Given the description of an element on the screen output the (x, y) to click on. 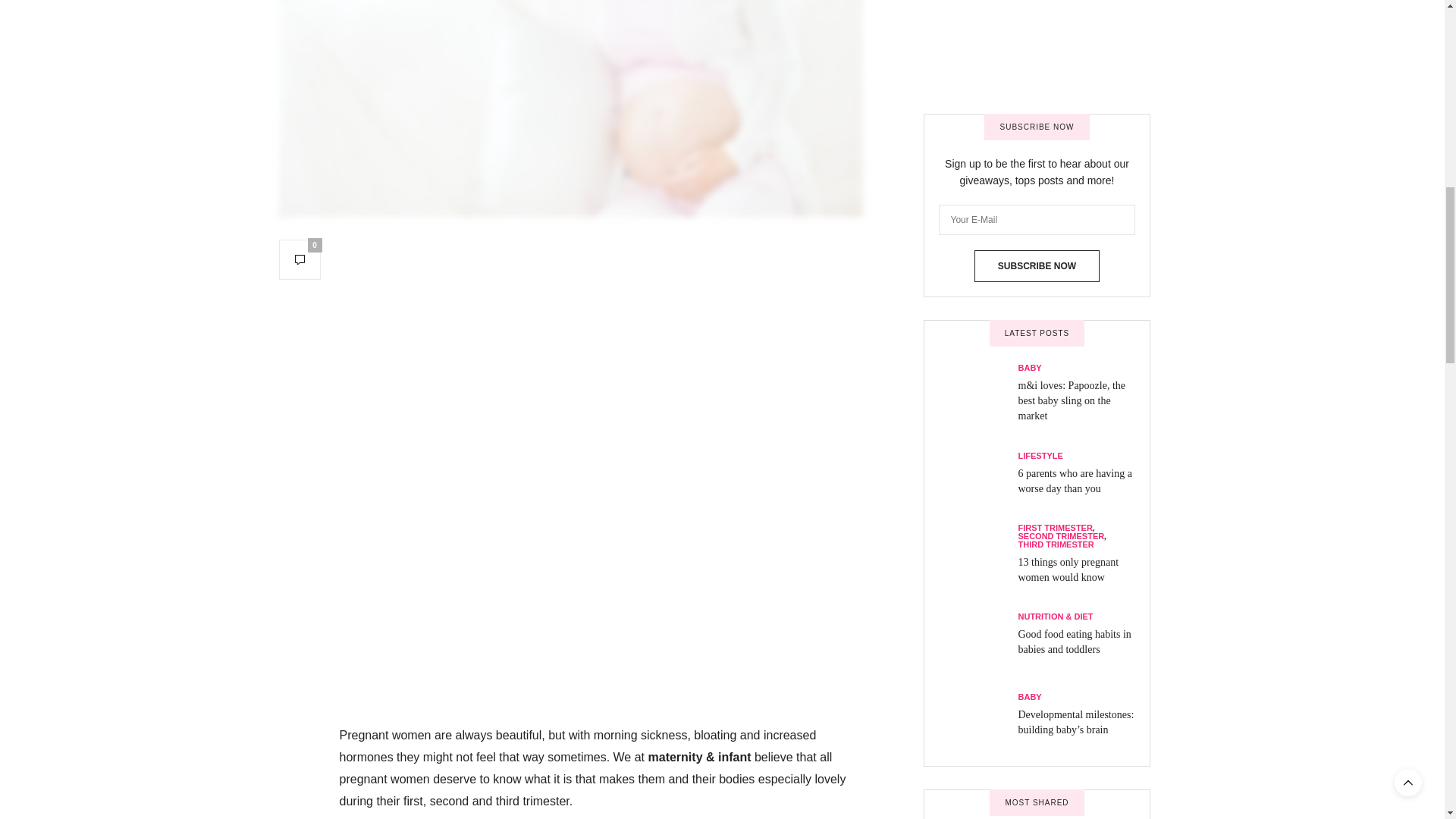
13 things only pregnant women would know (978, 87)
6 parents who are having a worse day than you (978, 20)
6 parents who are having a worse day than you (1074, 12)
